Given the description of an element on the screen output the (x, y) to click on. 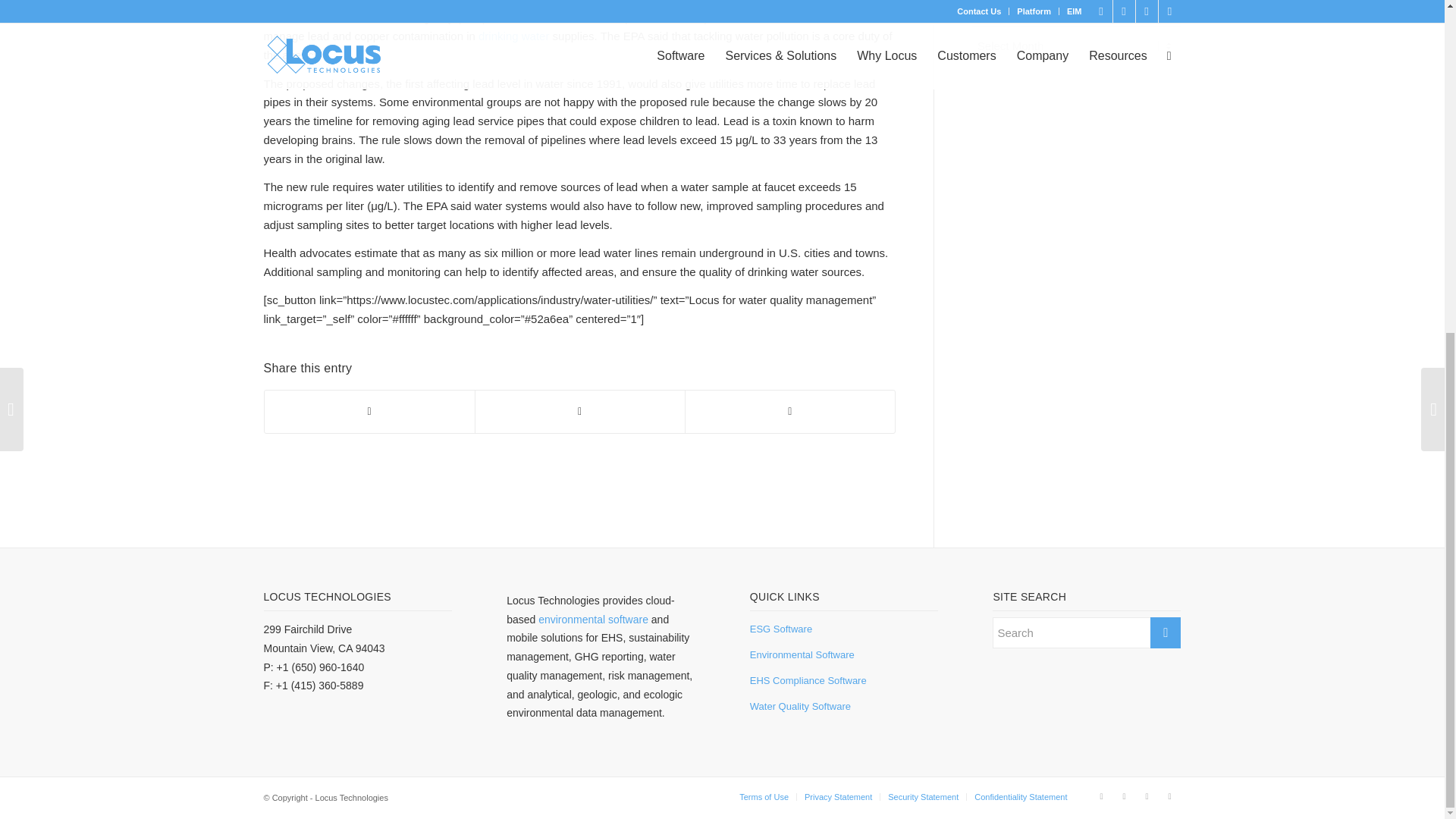
Twitter (1146, 795)
LinkedIn (1101, 795)
Facebook (1124, 795)
